Given the description of an element on the screen output the (x, y) to click on. 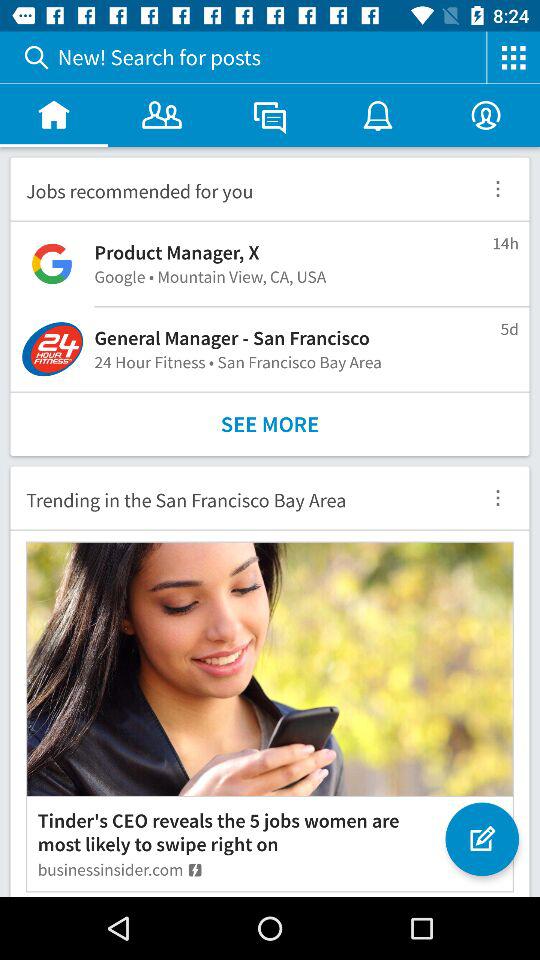
launch icon below the see more icon (238, 497)
